Given the description of an element on the screen output the (x, y) to click on. 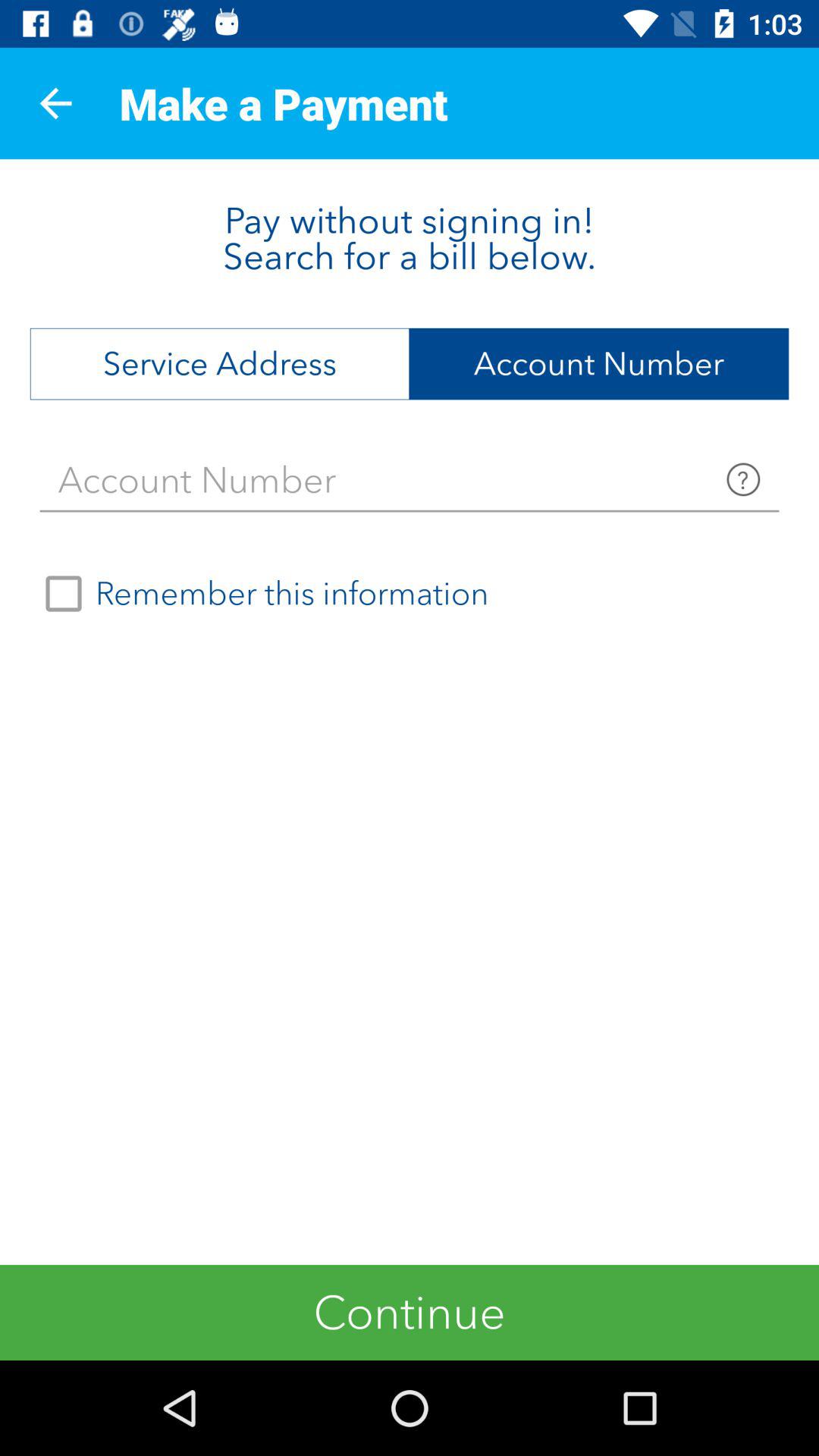
press the item above remember this information (409, 479)
